Given the description of an element on the screen output the (x, y) to click on. 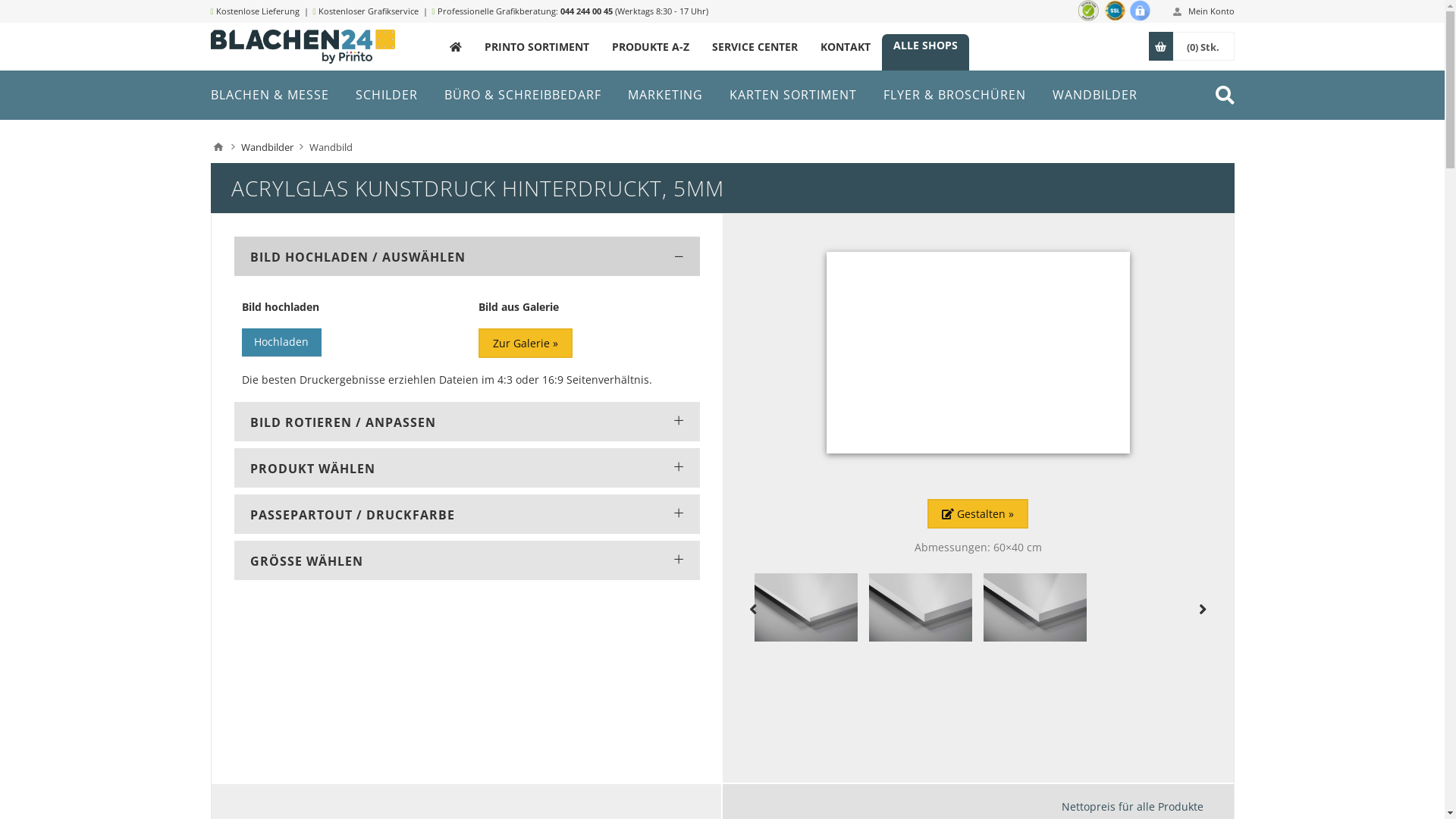
Wandbilder Element type: text (267, 146)
PRINTO SORTIMENT Element type: text (536, 46)
MARKETING Element type: text (664, 94)
ALLE SHOPS Element type: text (924, 45)
 Gestalten Element type: text (977, 513)
KONTAKT Element type: text (844, 46)
_ Element type: hover (455, 46)
Zur Galerie Element type: text (524, 342)
(0) Stk. Element type: text (1203, 45)
KARTEN SORTIMENT Element type: text (792, 94)
SERVICE CENTER Element type: text (754, 46)
SCHILDER Element type: text (385, 94)
BLACHEN & MESSE Element type: text (269, 94)
WANDBILDER Element type: text (1094, 94)
PRODUKTE A-Z Element type: text (650, 46)
Home Element type: text (217, 146)
044 244 00 45 Element type: text (586, 10)
